Given the description of an element on the screen output the (x, y) to click on. 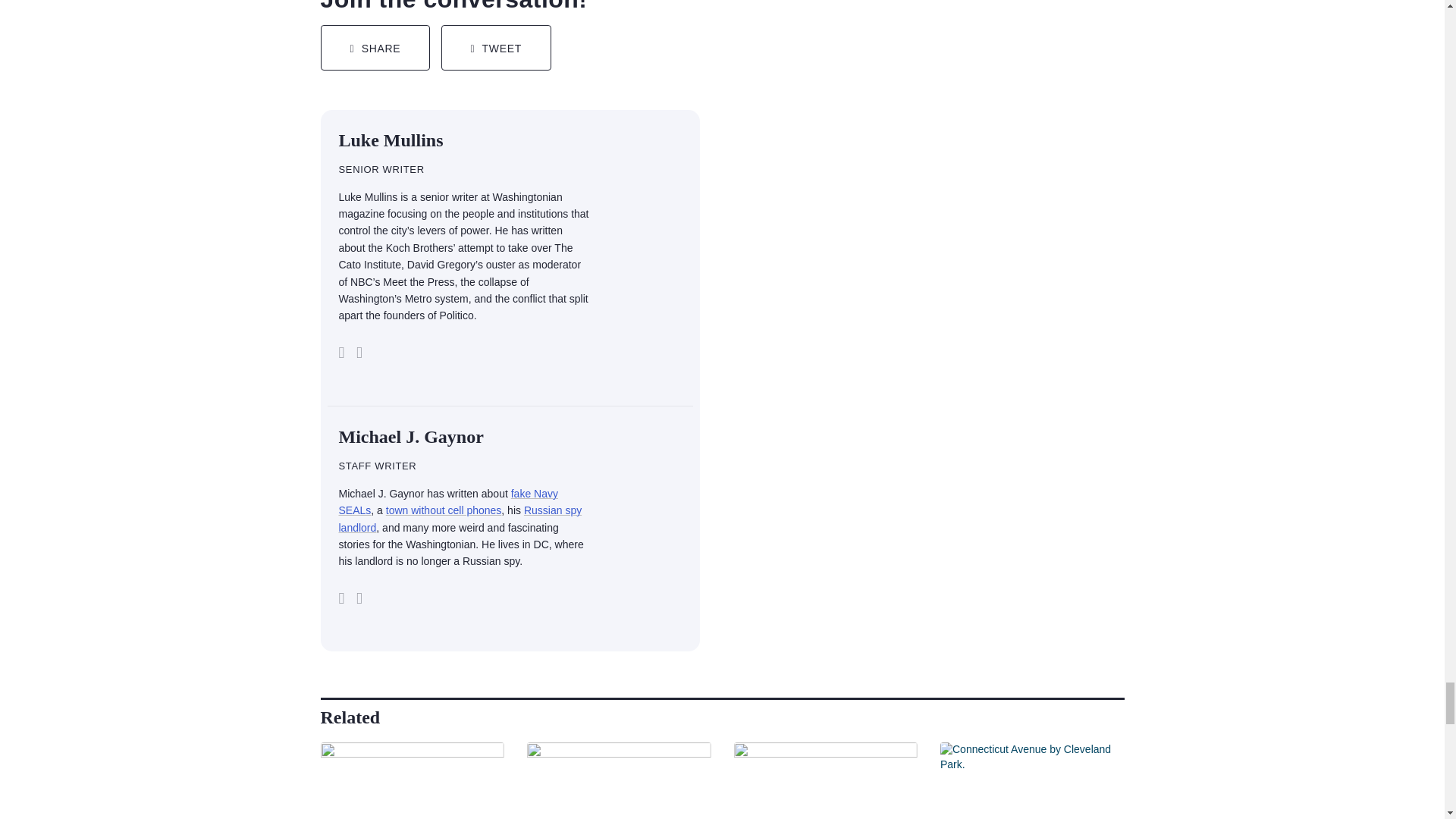
Metro open doors - Washingtonian (825, 780)
New Silve Line at Dulleas Airport - Washingtonian (619, 780)
Connecticut Ave - Washingtonian (1032, 780)
